Given the description of an element on the screen output the (x, y) to click on. 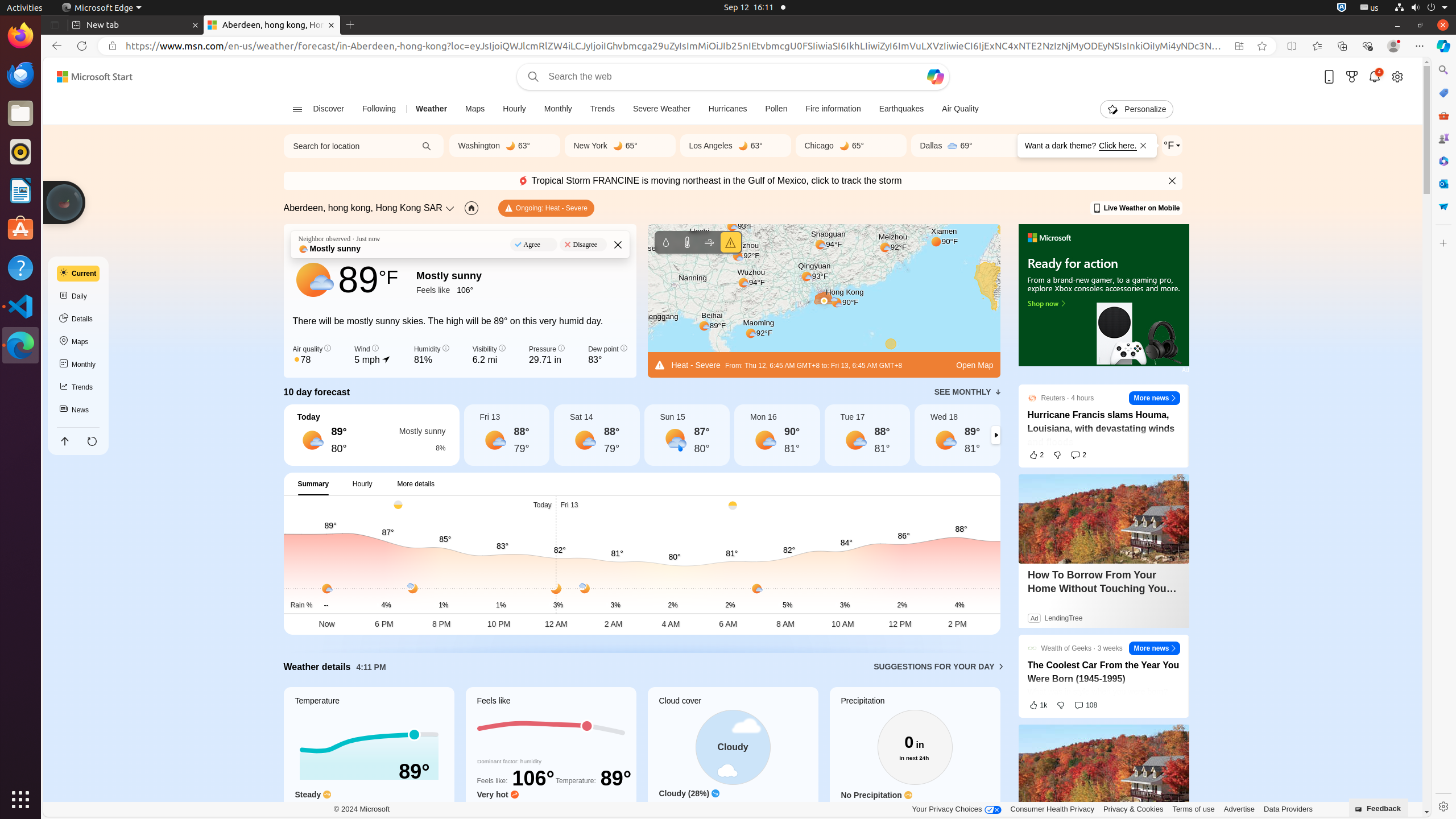
Dallas Cloudy 69° Element type: push-button (966, 145)
Air quality 78 Element type: link (311, 355)
Browser essentials Element type: push-button (1366, 45)
Trends Element type: push-button (78, 387)
Current Element type: push-button (78, 273)
